Given the description of an element on the screen output the (x, y) to click on. 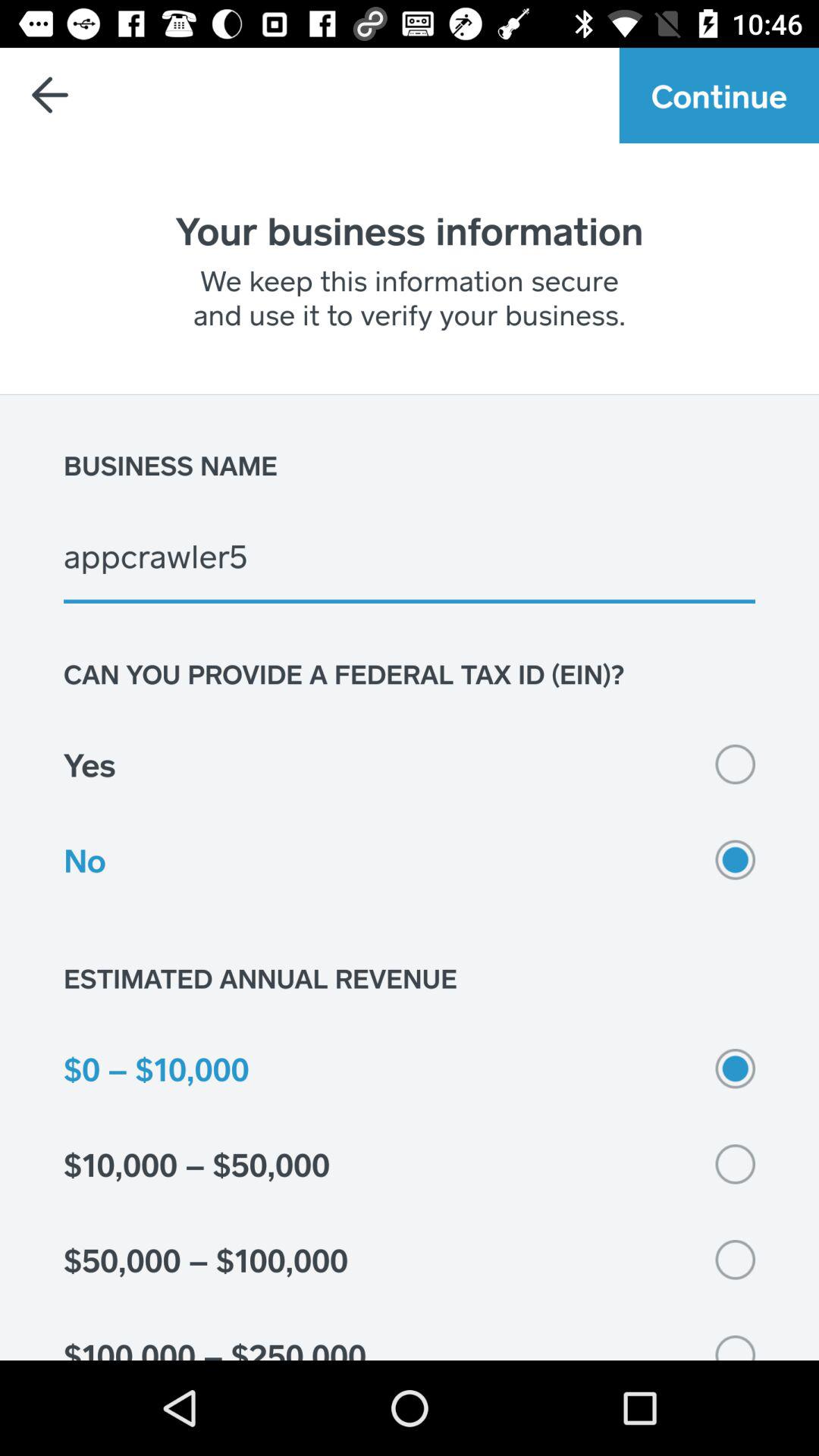
choose the we keep this icon (409, 297)
